Given the description of an element on the screen output the (x, y) to click on. 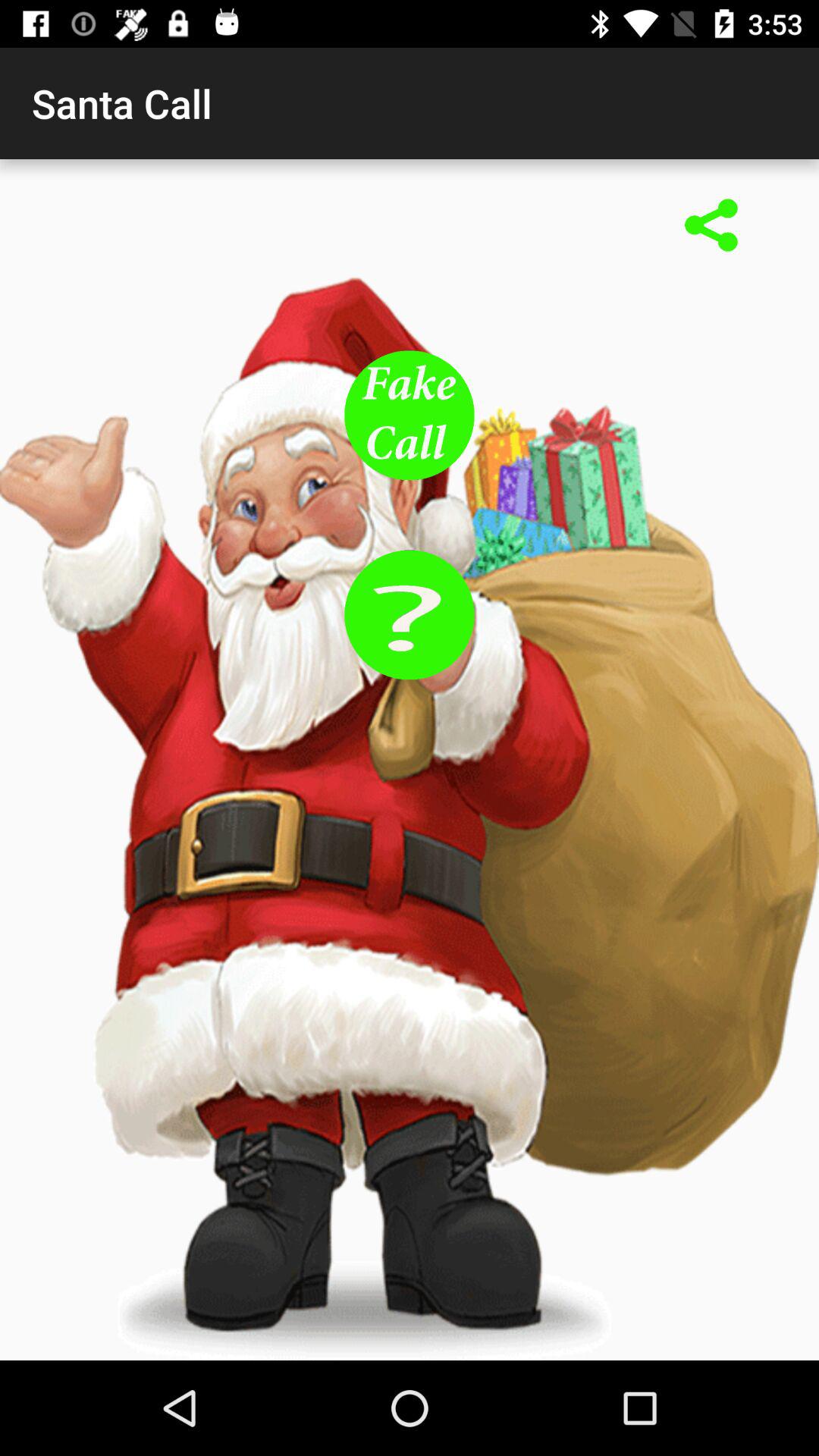
help button (409, 614)
